Given the description of an element on the screen output the (x, y) to click on. 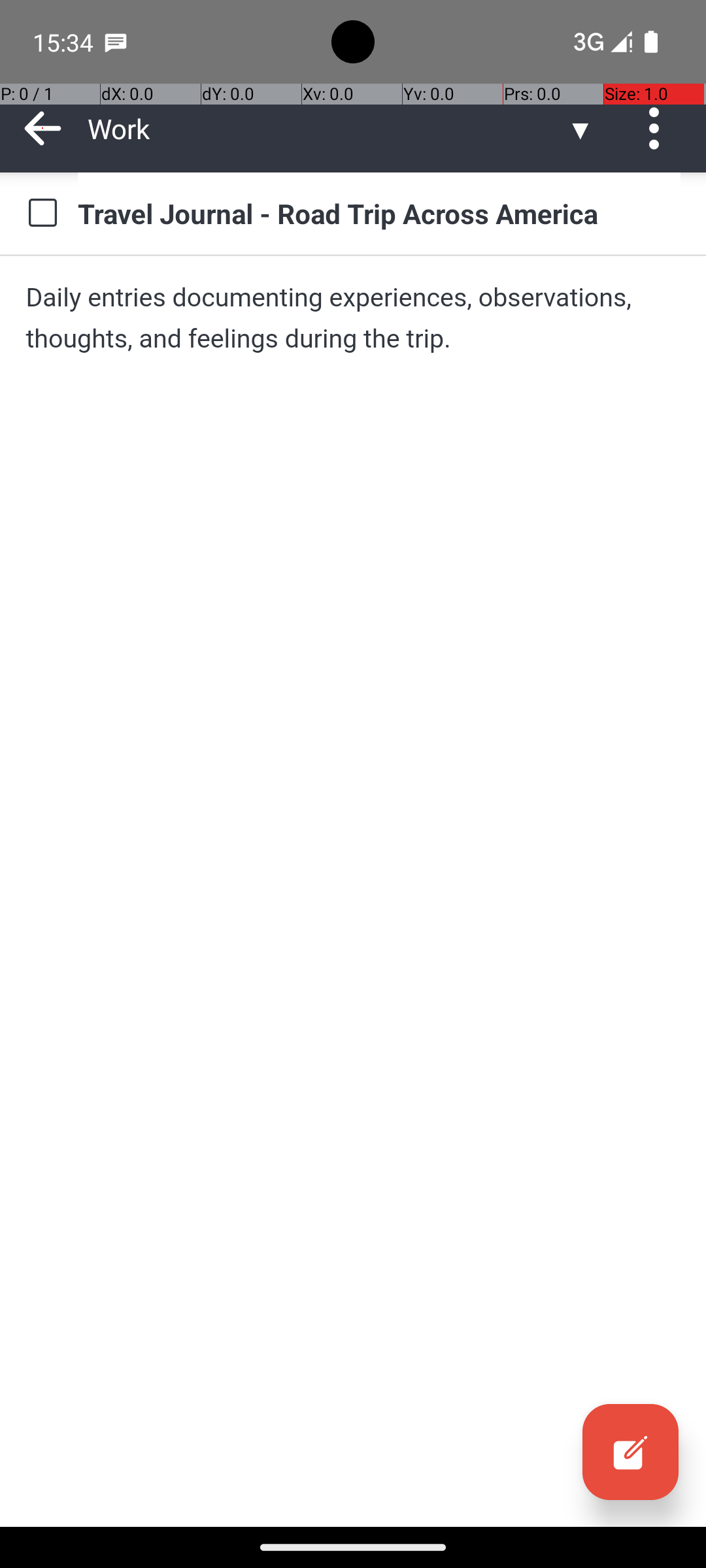
Travel Journal - Road Trip Across America Element type: android.widget.EditText (378, 213)
Work Element type: android.widget.TextView (326, 128)
Daily entries documenting experiences, observations, thoughts, and feelings during the trip. Element type: android.widget.TextView (352, 317)
